Given the description of an element on the screen output the (x, y) to click on. 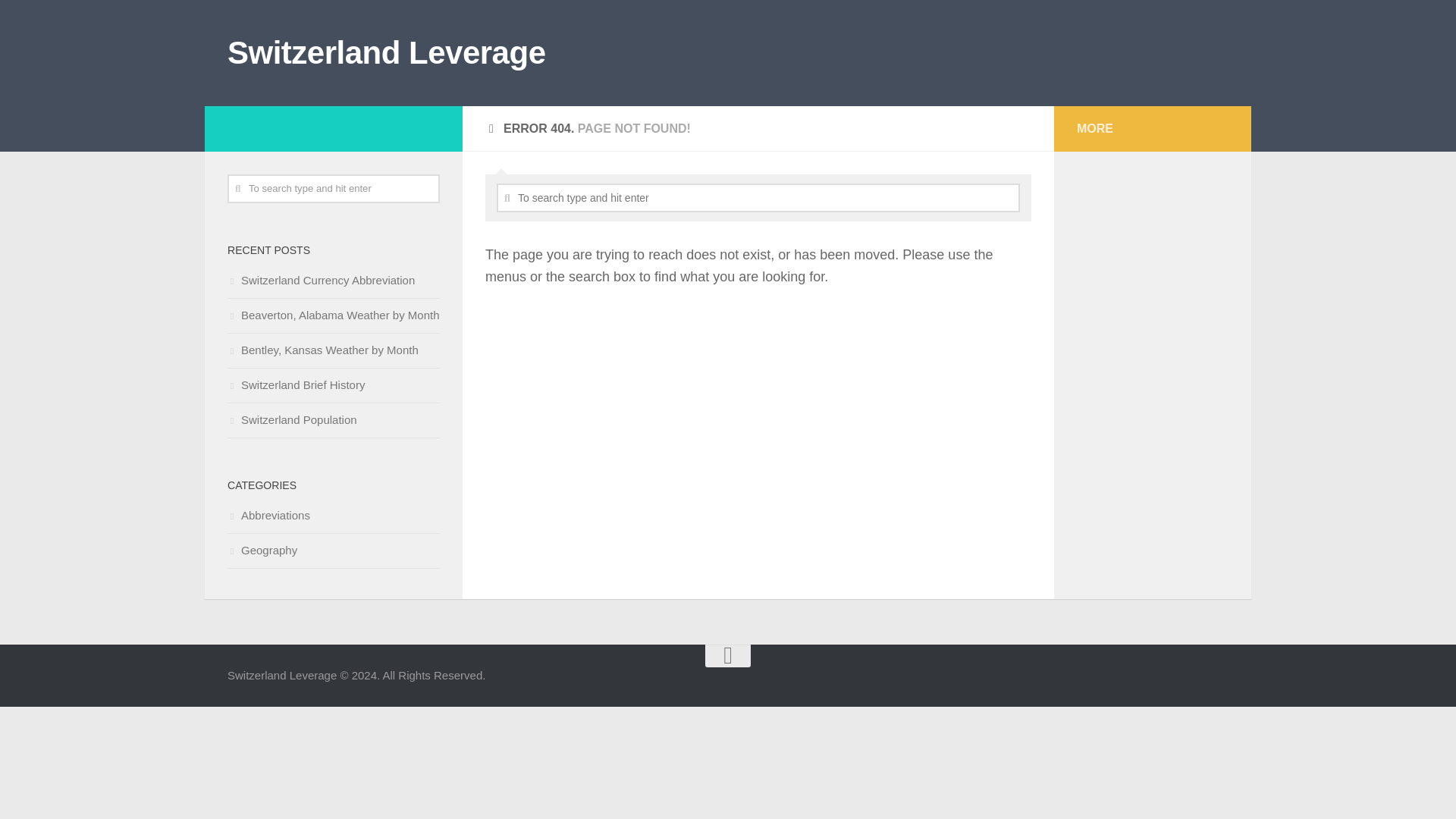
To search type and hit enter (333, 188)
Geography (262, 549)
To search type and hit enter (758, 197)
Switzerland Population (291, 419)
Bentley, Kansas Weather by Month (323, 349)
Switzerland Brief History (296, 384)
Switzerland Leverage (386, 53)
To search type and hit enter (333, 188)
To search type and hit enter (758, 197)
Switzerland Currency Abbreviation (320, 279)
